Given the description of an element on the screen output the (x, y) to click on. 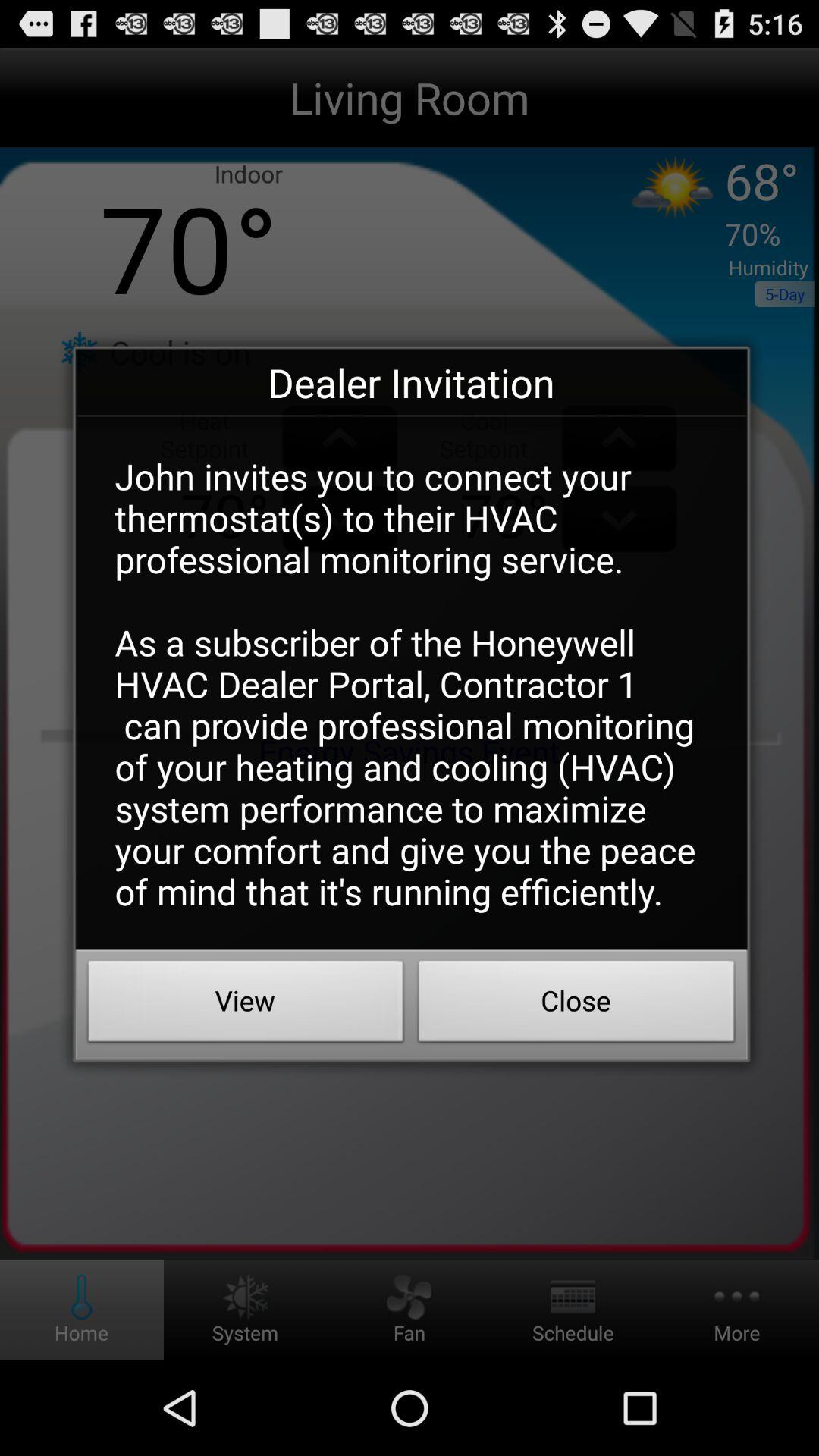
click the app below john invites you (576, 1005)
